Given the description of an element on the screen output the (x, y) to click on. 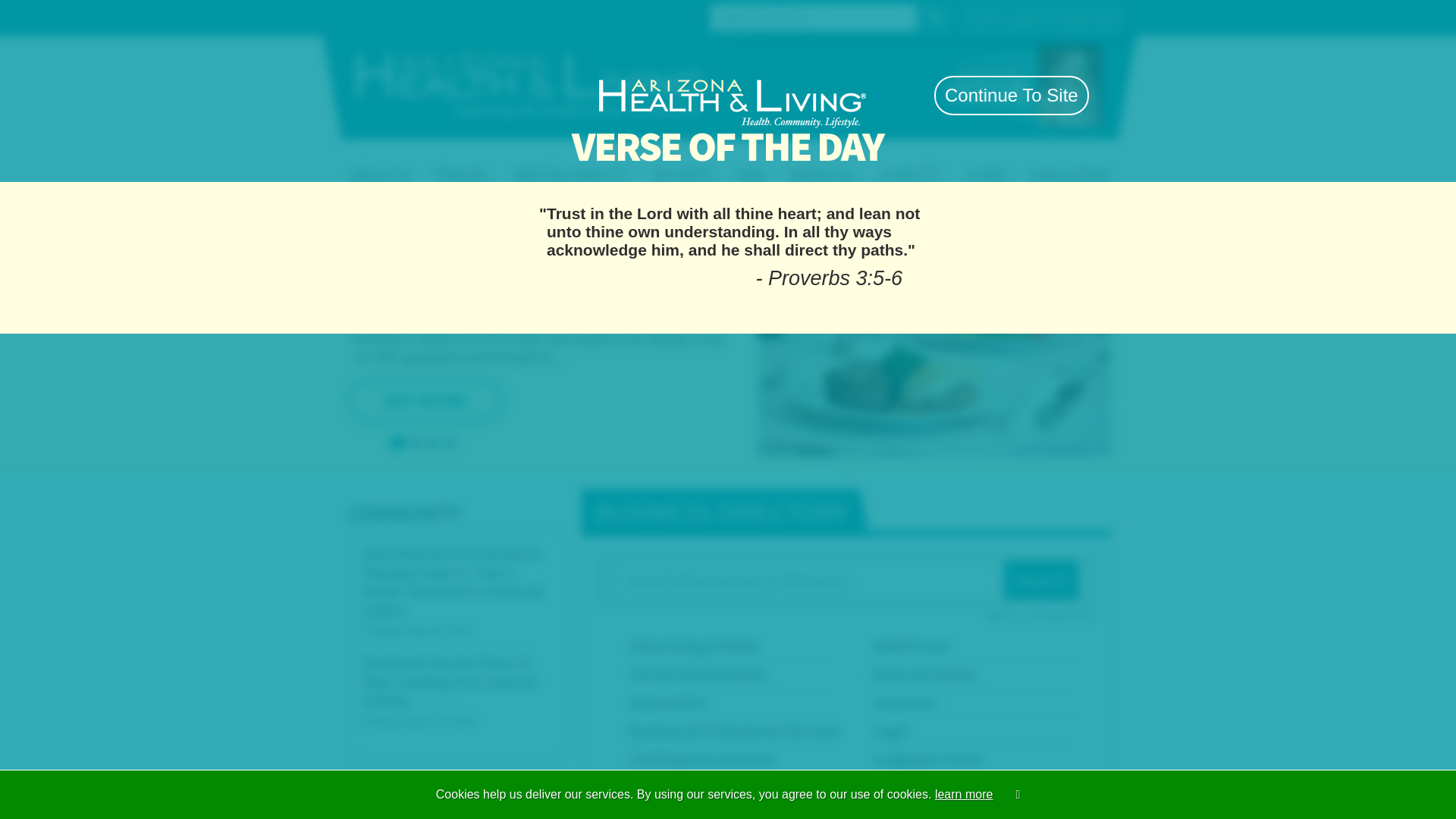
LIVING (541, 160)
Home (396, 16)
TRAVEL (658, 160)
BLOG (1101, 160)
subscribe (878, 93)
List, Post and Share (727, 128)
Join Community (965, 16)
SHOP (872, 160)
Contact Us (442, 16)
